Given the description of an element on the screen output the (x, y) to click on. 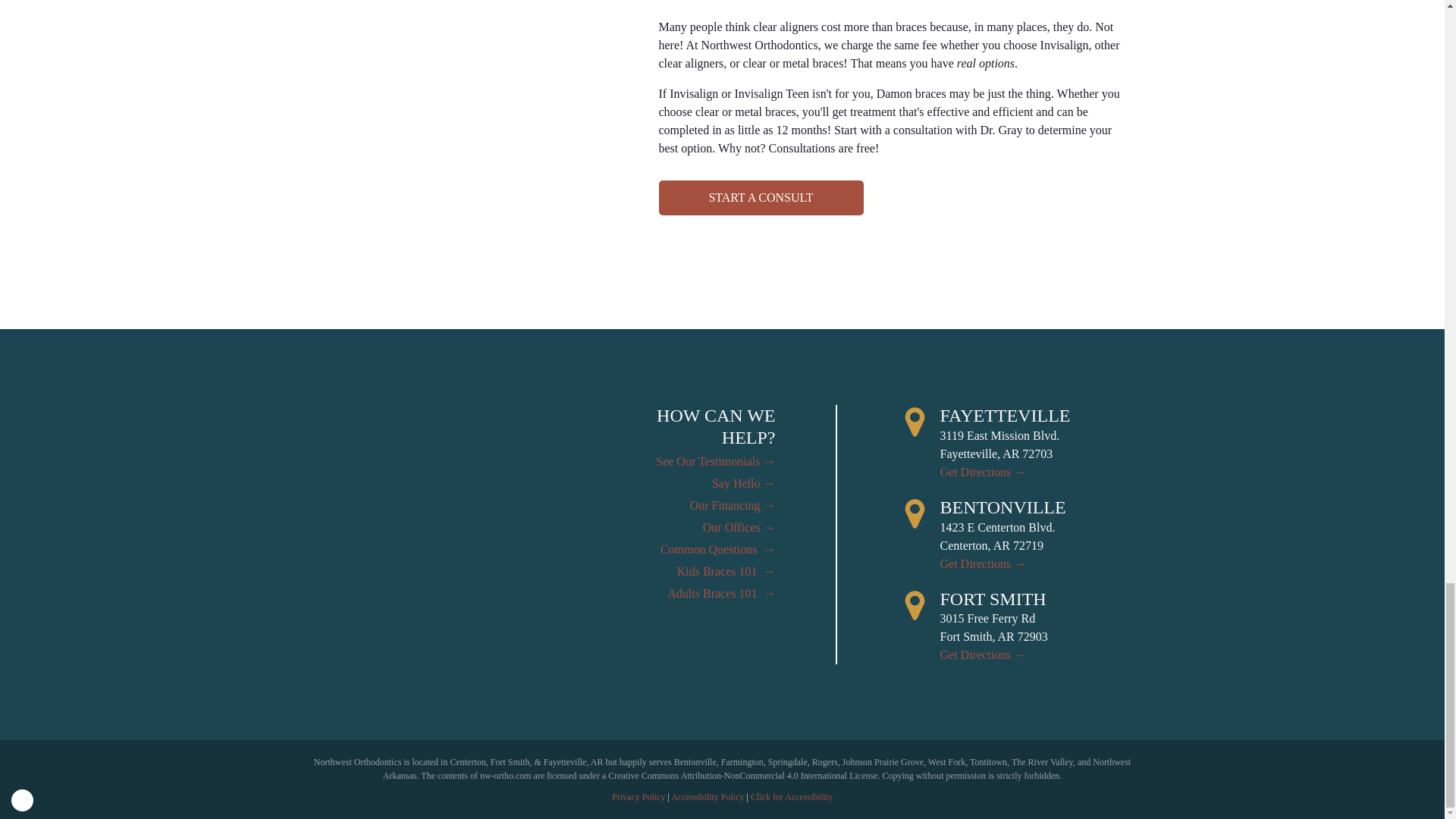
Visit Clear Partnering Group (22, 800)
